Given the description of an element on the screen output the (x, y) to click on. 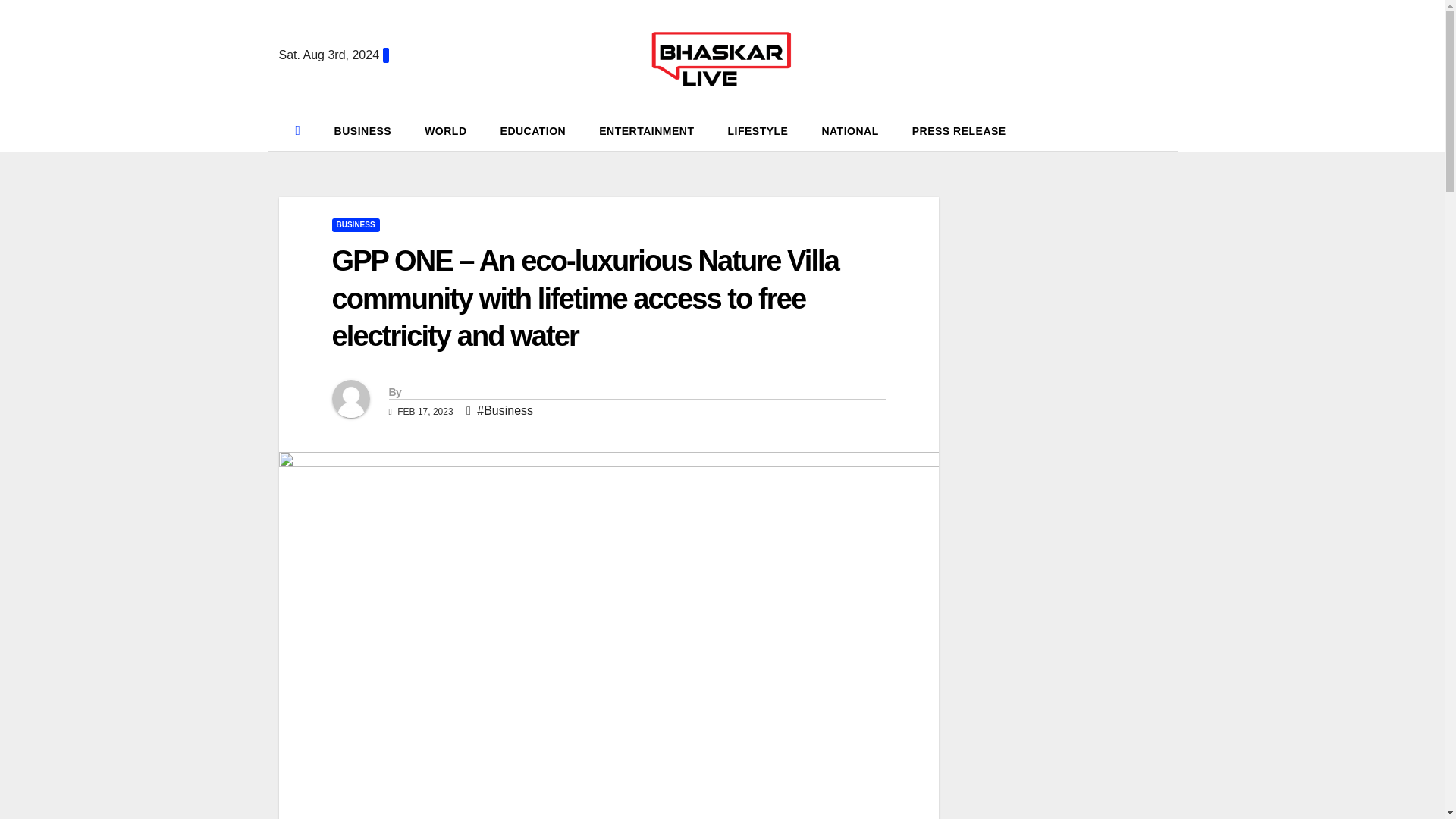
EDUCATION (533, 130)
Lifestyle (757, 130)
Education (533, 130)
NATIONAL (850, 130)
WORLD (445, 130)
Press Release (959, 130)
BUSINESS (363, 130)
ENTERTAINMENT (646, 130)
BUSINESS (355, 224)
PRESS RELEASE (959, 130)
Entertainment (646, 130)
World (445, 130)
National (850, 130)
LIFESTYLE (757, 130)
Business (363, 130)
